Given the description of an element on the screen output the (x, y) to click on. 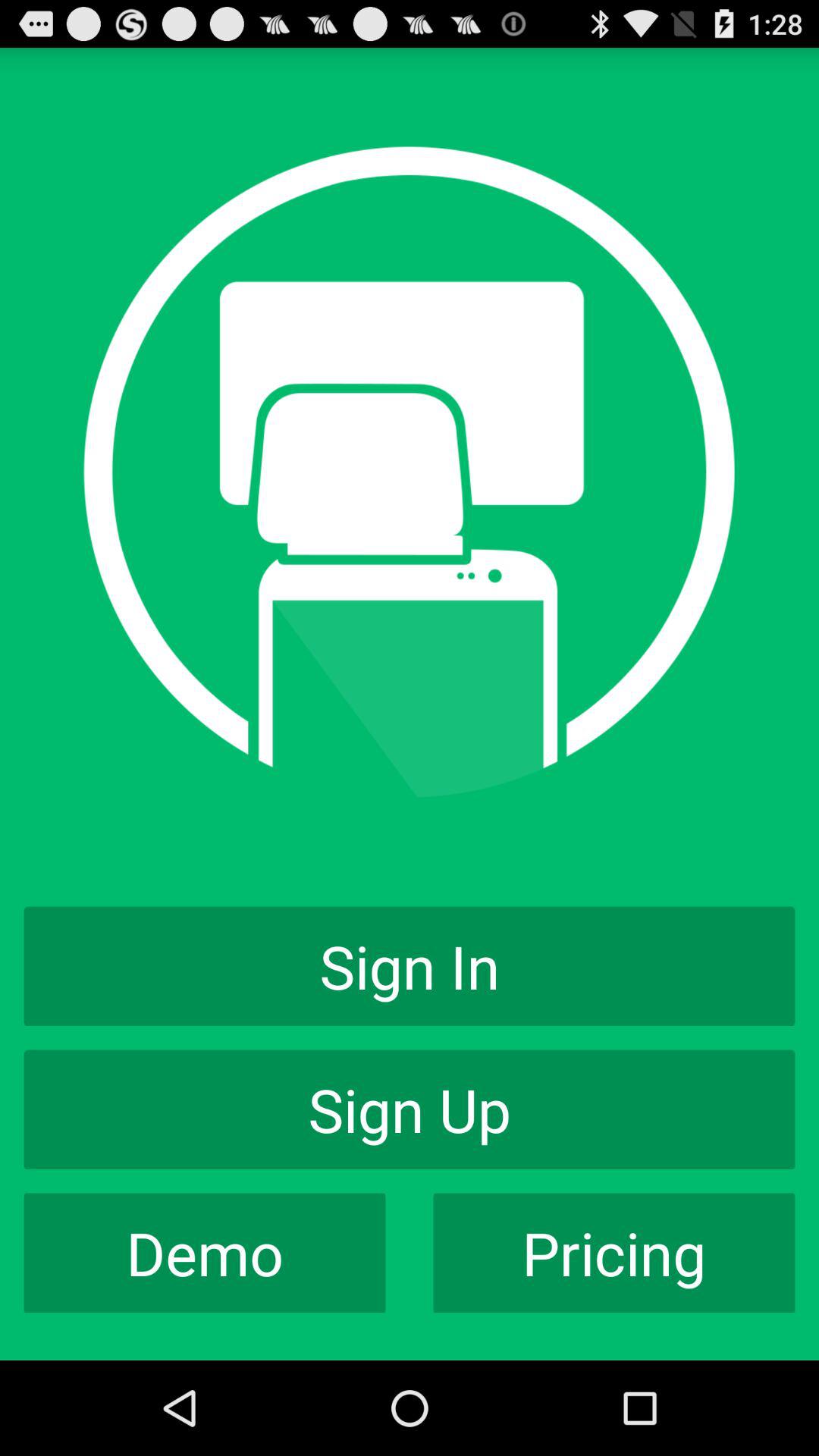
launch sign up icon (409, 1109)
